Given the description of an element on the screen output the (x, y) to click on. 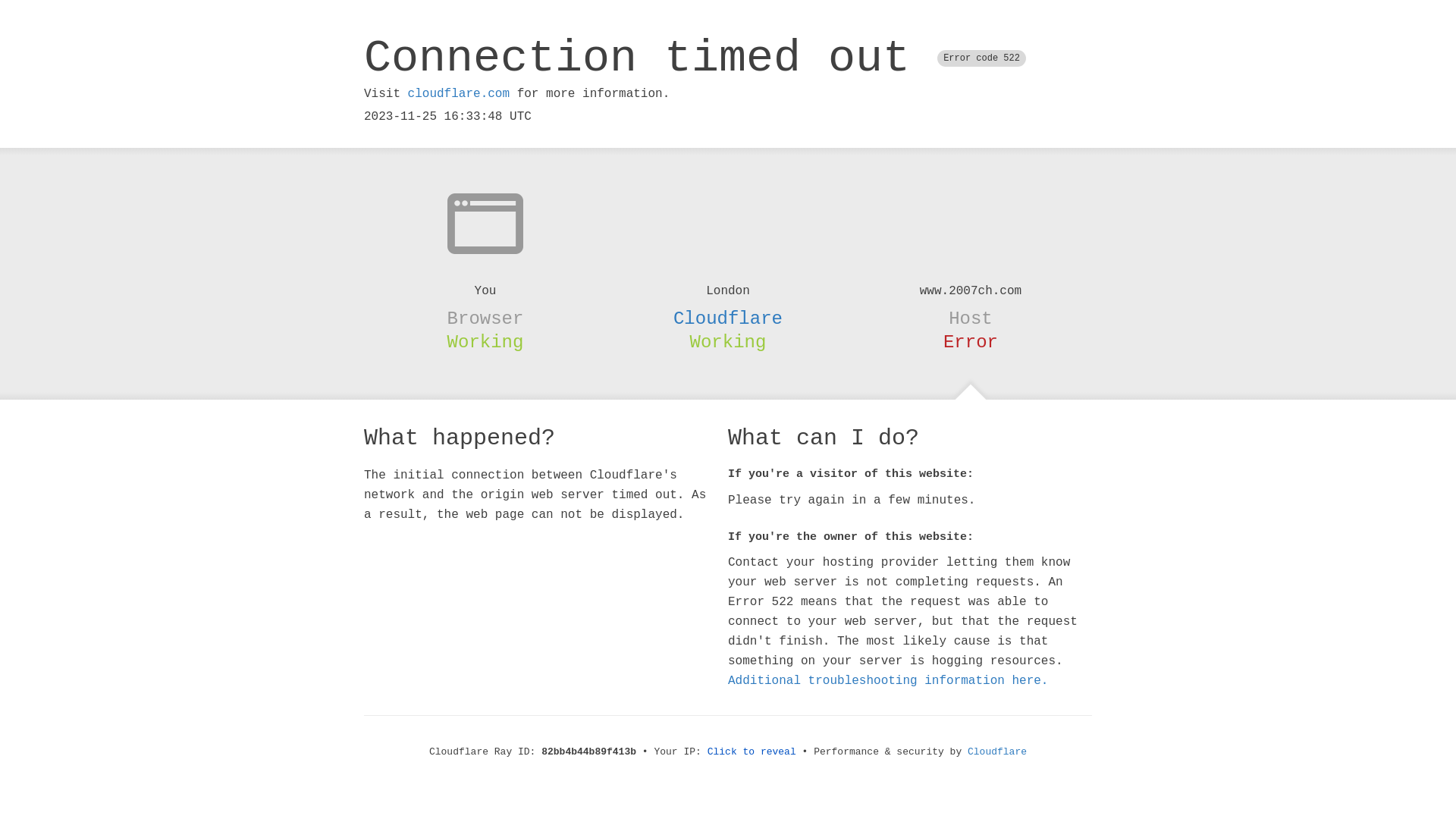
Cloudflare Element type: text (727, 318)
Additional troubleshooting information here. Element type: text (888, 680)
Cloudflare Element type: text (996, 751)
cloudflare.com Element type: text (458, 93)
Click to reveal Element type: text (751, 751)
